Given the description of an element on the screen output the (x, y) to click on. 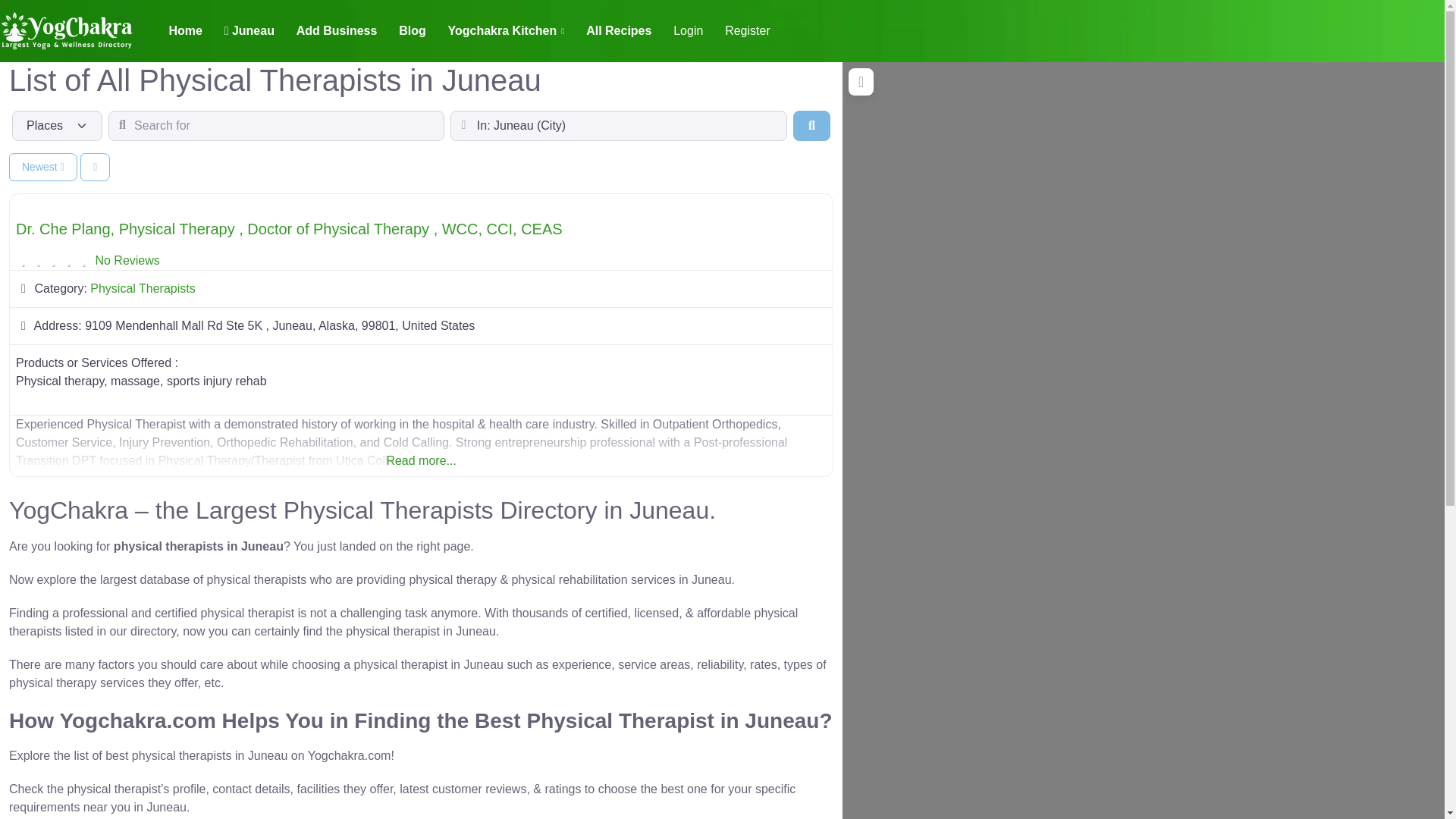
No rating yet! (53, 260)
All Recipes (618, 30)
Physical Therapists (142, 287)
Search (811, 125)
Blog (412, 30)
Read more... (421, 442)
Yogchakra Kitchen (505, 30)
Add Business (336, 30)
Juneau (248, 30)
Newest (42, 166)
No Reviews (126, 259)
Home (184, 30)
YogChakra (66, 29)
